Given the description of an element on the screen output the (x, y) to click on. 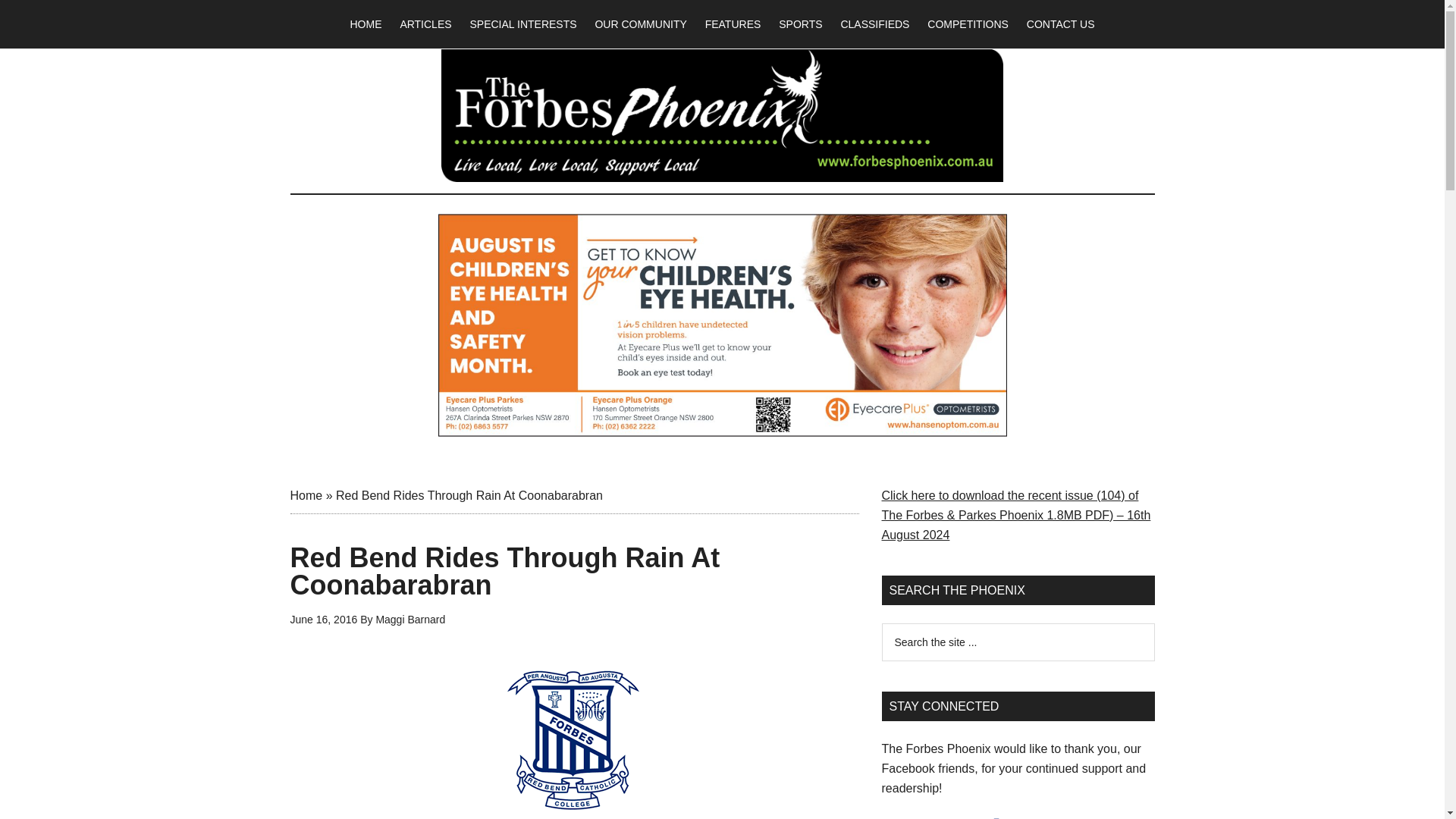
HOME (365, 24)
SPORTS (800, 24)
FEATURES (732, 24)
SPECIAL INTERESTS (522, 24)
CONTACT US (1060, 24)
ARTICLES (424, 24)
CLASSIFIEDS (874, 24)
OUR COMMUNITY (640, 24)
